Given the description of an element on the screen output the (x, y) to click on. 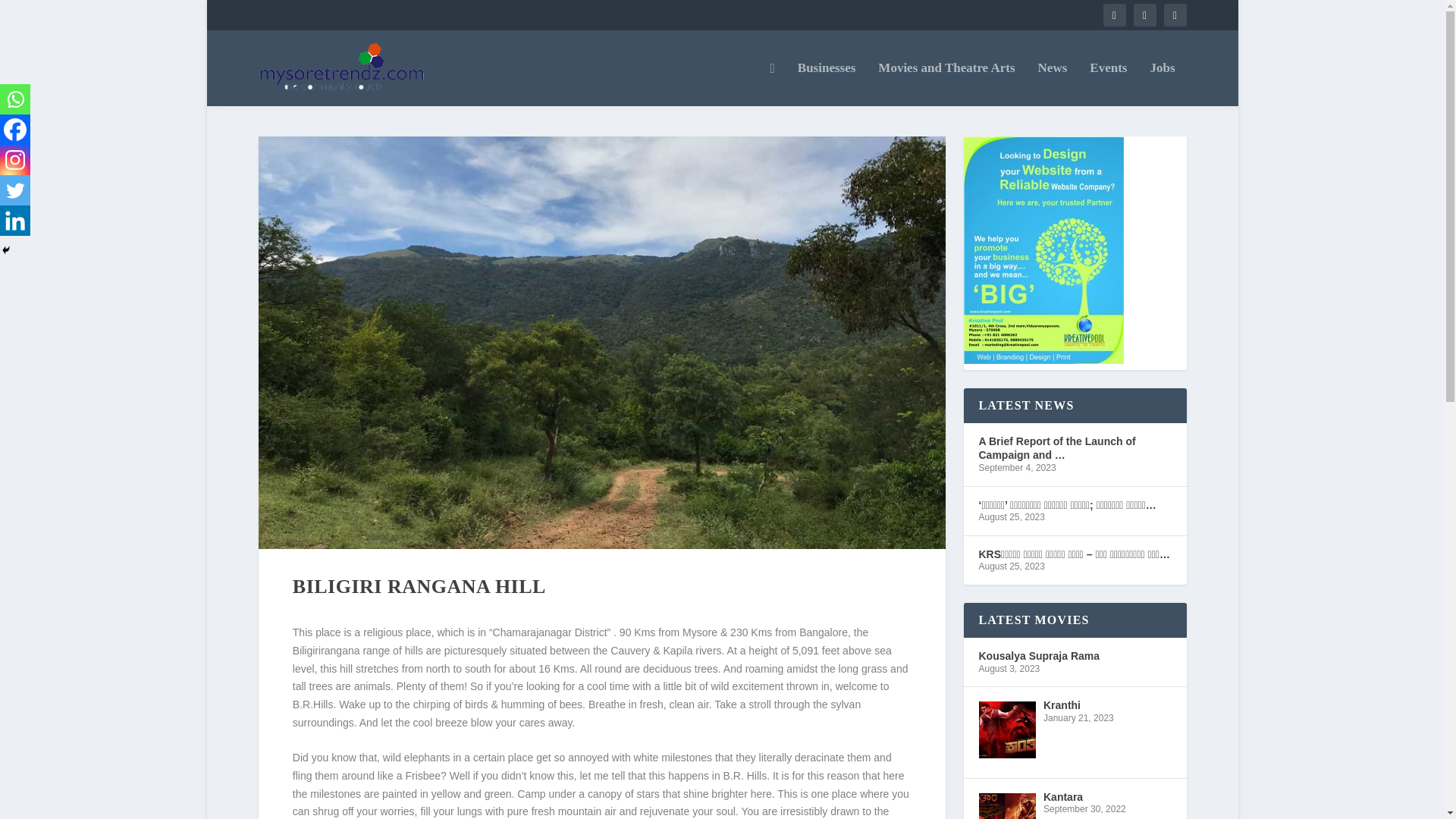
Hide (5, 250)
Twitter (15, 190)
Businesses (826, 84)
Whatsapp (15, 99)
Instagram (15, 159)
Movies and Theatre Arts (945, 84)
Linkedin (15, 220)
Facebook (15, 129)
